Given the description of an element on the screen output the (x, y) to click on. 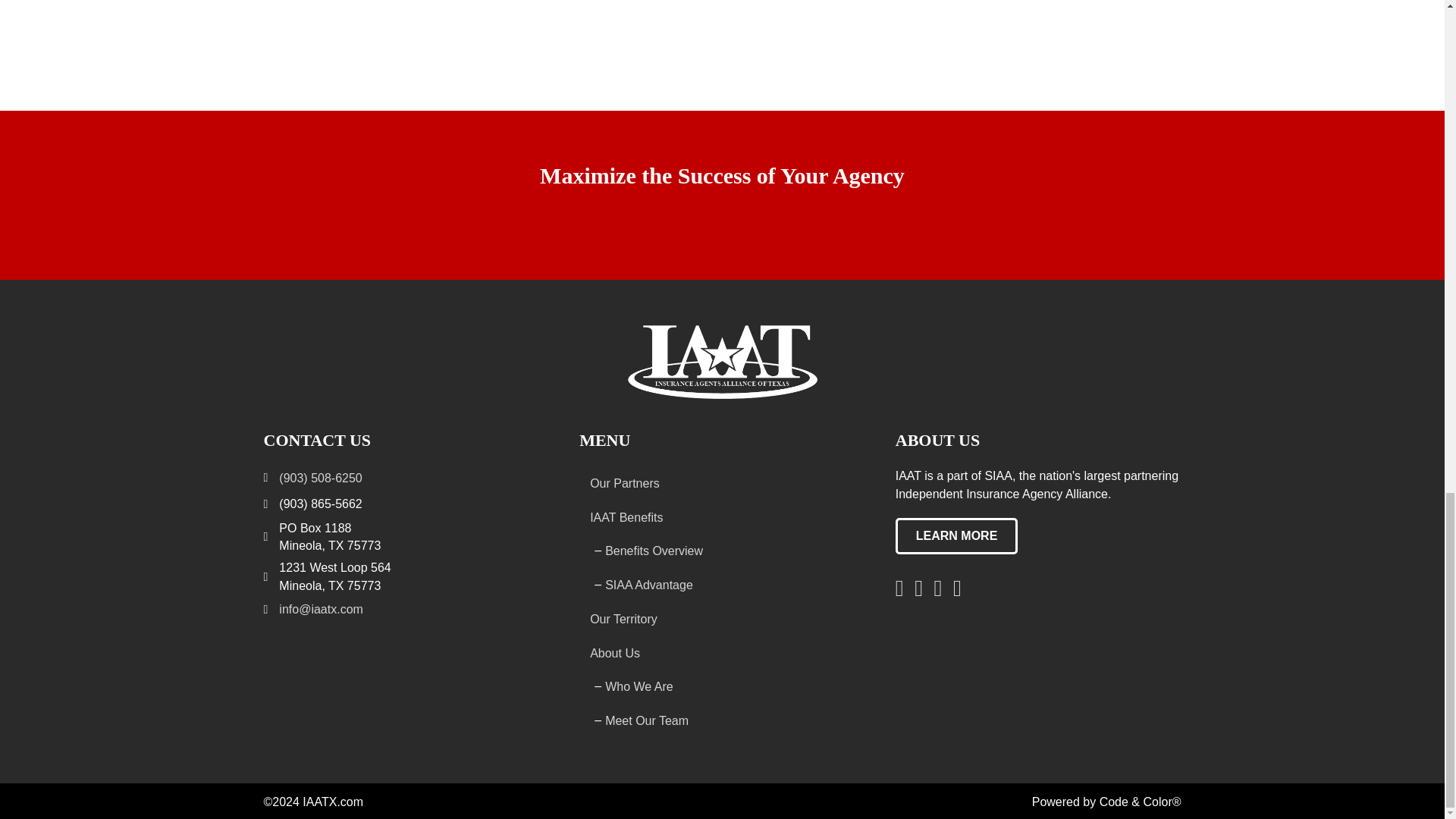
Benefits Overview (729, 551)
Meet Our Team (729, 720)
SIAA Advantage (729, 584)
LEARN MORE (956, 535)
IAAT Benefits (721, 517)
IAAT Logo - White (721, 361)
Click Here (956, 535)
Who We Are (729, 686)
Our Partners (721, 483)
Our Territory (721, 619)
